Given the description of an element on the screen output the (x, y) to click on. 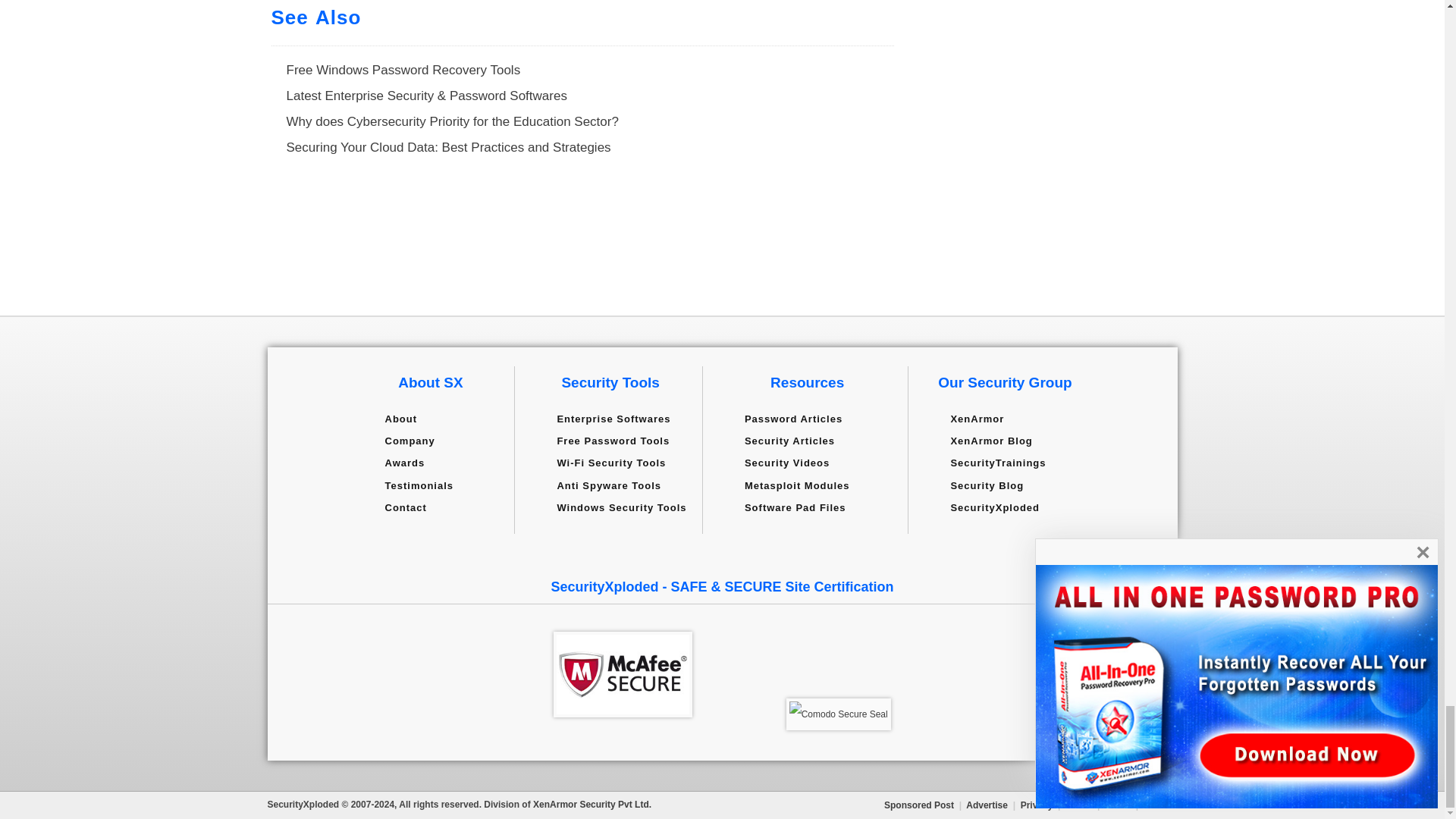
Free Windows Password Recovery Tools (403, 69)
McAfee Site Advisor - SAFE Rating (623, 674)
Comodo Secure Seal (838, 714)
